Given the description of an element on the screen output the (x, y) to click on. 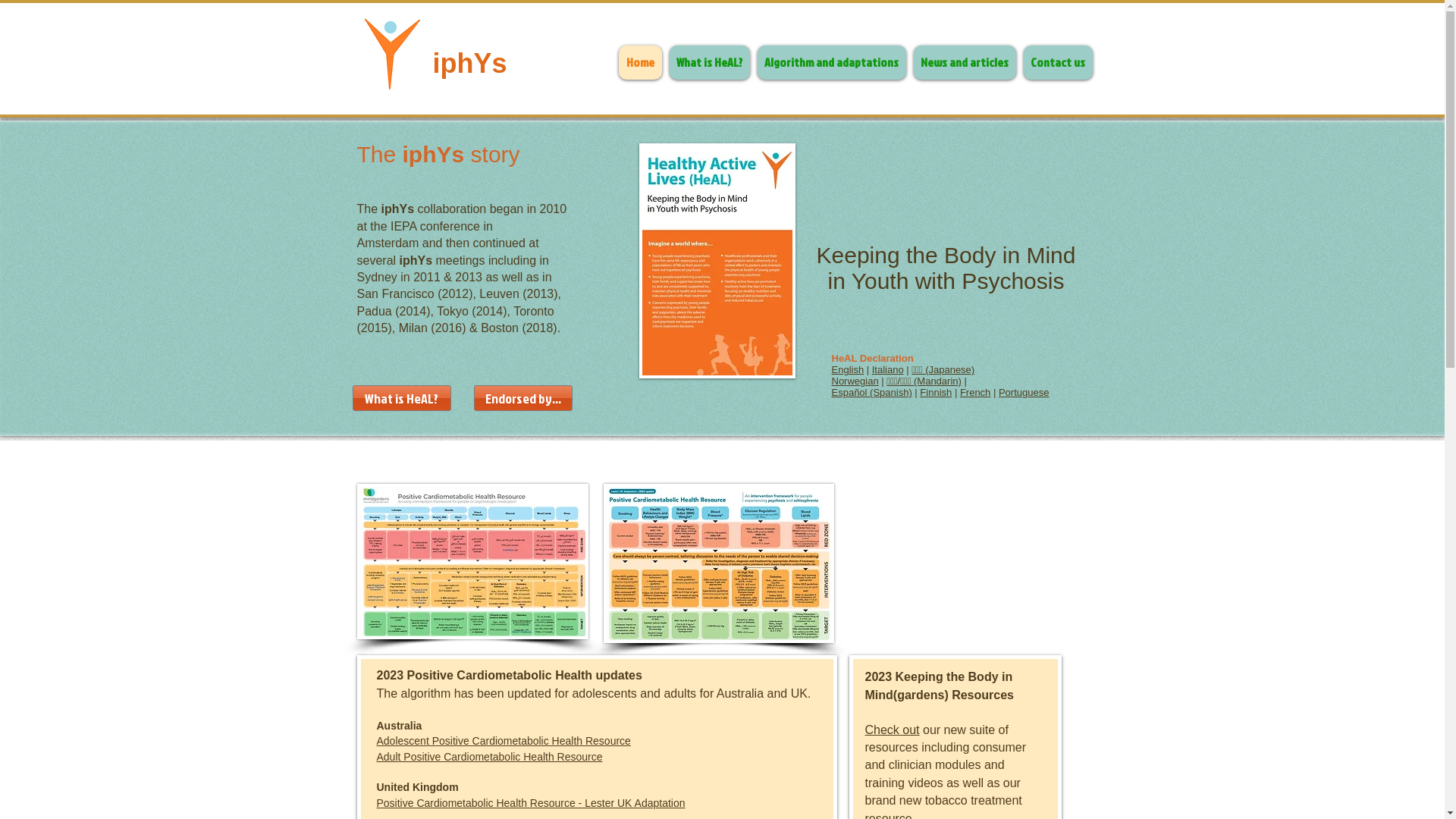
iphYs Element type: text (469, 62)
French Element type: text (975, 392)
What is HeAL? Element type: text (400, 398)
Home Element type: text (640, 62)
Portuguese Element type: text (1023, 392)
Algorithm and adaptations Element type: text (830, 62)
Adult Positive Cardiometabolic Health Resource Element type: text (489, 756)
Italiano Element type: text (887, 369)
Adolescent Positive Cardiometabolic Health Resource Element type: text (503, 740)
HeAL_brochure-2.jpeg Element type: hover (716, 260)
Positive_Cardiometabolic_Health.png Element type: hover (718, 563)
logo_JDLT.png Element type: hover (391, 52)
News and articles Element type: text (964, 62)
Endorsed by... Element type: text (522, 398)
Contact us Element type: text (1057, 62)
RightFromTheStart-Guide-small.jpg Element type: hover (471, 561)
English Element type: text (847, 369)
Finnish Element type: text (935, 392)
Norwegian Element type: text (854, 380)
What is HeAL? Element type: text (708, 62)
Check out Element type: text (891, 729)
